Given the description of an element on the screen output the (x, y) to click on. 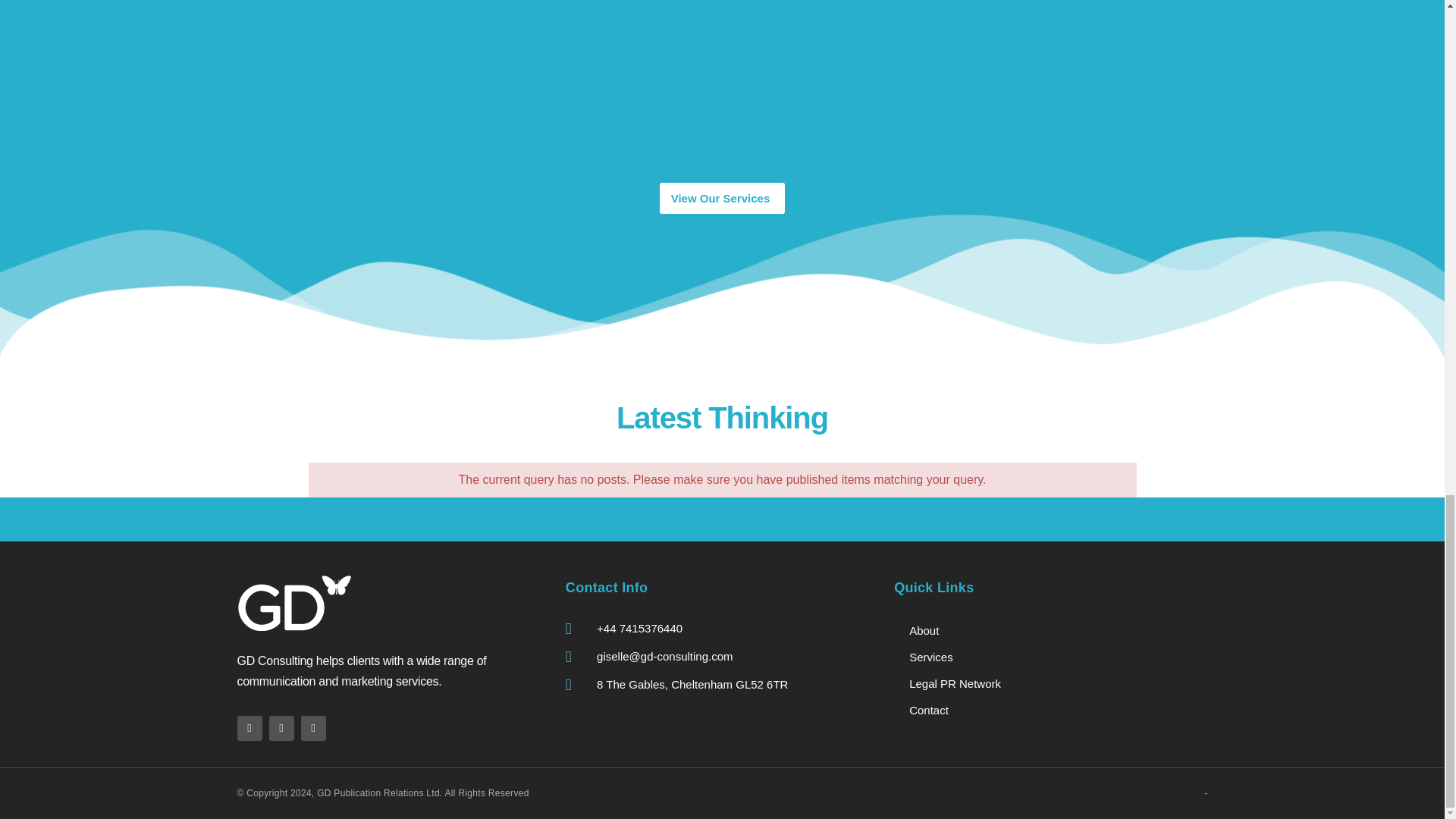
View Our Services (722, 197)
About (1050, 630)
Contact (1050, 709)
Services (1050, 656)
Legal PR Network (1050, 683)
